Given the description of an element on the screen output the (x, y) to click on. 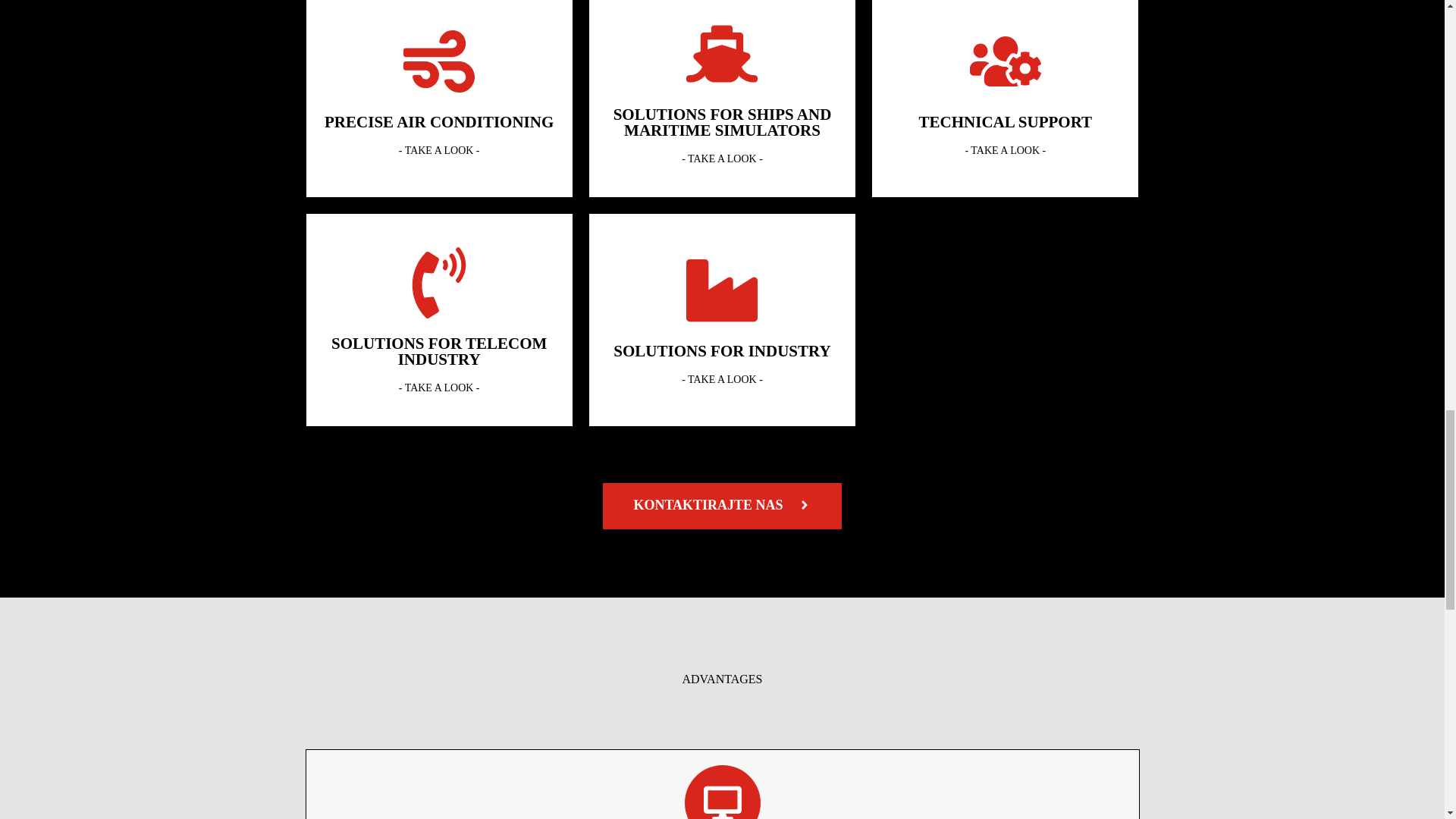
KONTAKTIRAJTE NAS (721, 506)
